Given the description of an element on the screen output the (x, y) to click on. 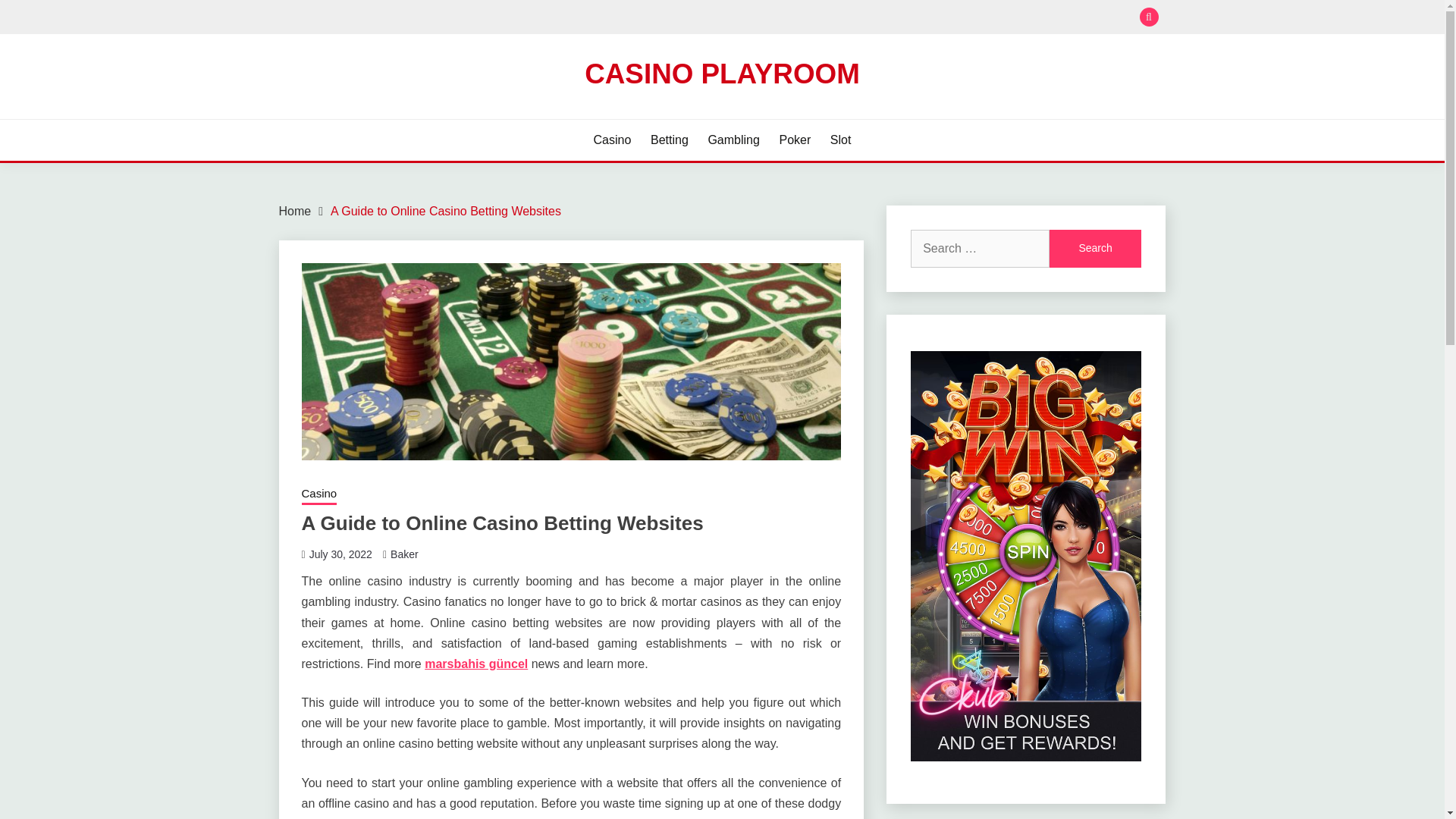
Casino (612, 140)
Search (832, 18)
Search (1095, 248)
A Guide to Online Casino Betting Websites (445, 210)
Betting (669, 140)
Casino (319, 495)
Baker (404, 553)
Poker (794, 140)
Slot (840, 140)
Search (1095, 248)
Home (295, 210)
July 30, 2022 (340, 553)
Gambling (732, 140)
Search (1095, 248)
CASINO PLAYROOM (722, 73)
